Given the description of an element on the screen output the (x, y) to click on. 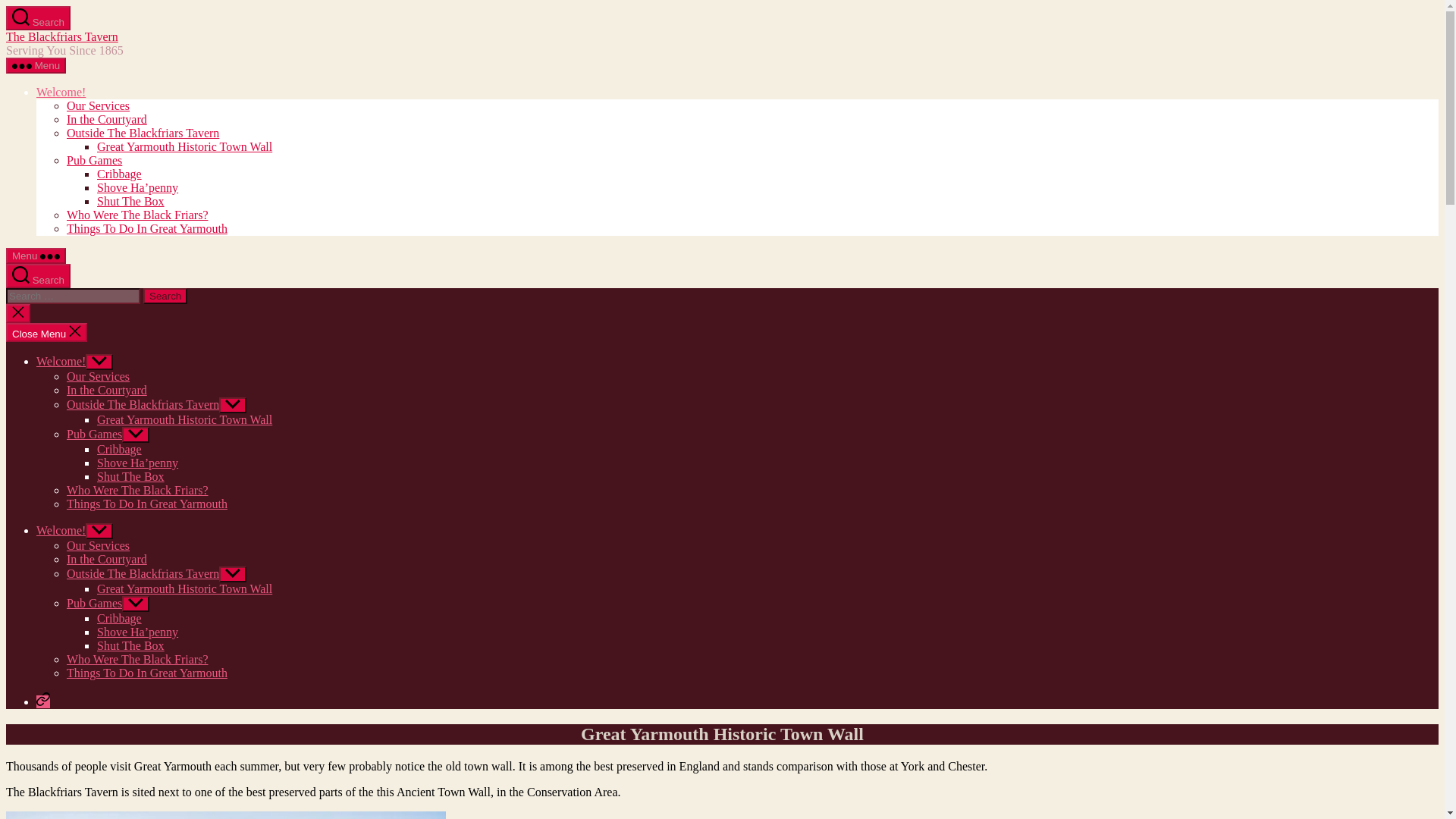
In the Courtyard (106, 390)
Outside The Blackfriars Tavern (142, 132)
Pub Games (94, 433)
The Blackfriars Tavern (61, 36)
Great Yarmouth Historic Town Wall (184, 419)
Menu (35, 65)
Menu (35, 255)
In the Courtyard (106, 119)
Who Were The Black Friars? (137, 214)
Shut The Box (130, 201)
Show sub menu (99, 530)
Search (37, 275)
Welcome! (60, 530)
Things To Do In Great Yarmouth (146, 228)
Close search (17, 312)
